Given the description of an element on the screen output the (x, y) to click on. 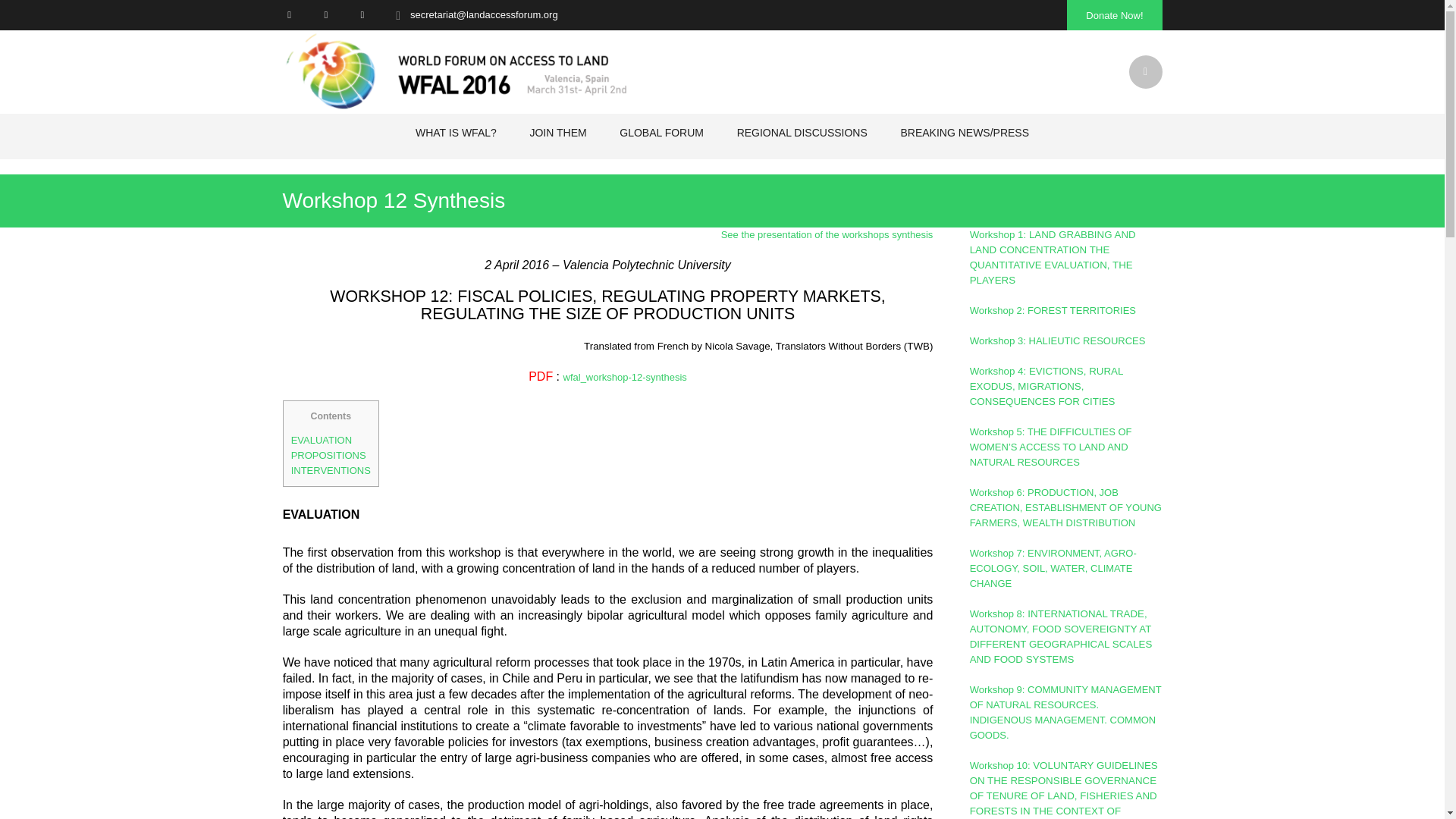
Youtube (362, 14)
Workshop 3: HALIEUTIC RESOURCES (1057, 340)
Donate Now! (1114, 15)
Facebook (325, 14)
WHAT IS WFAL? (455, 132)
JOIN THEM (557, 132)
Workshop 2: FOREST TERRITORIES (1052, 310)
See the presentation of the workshops synthesis (826, 234)
Twitter (288, 14)
REGIONAL DISCUSSIONS (801, 132)
GLOBAL FORUM (661, 132)
PROPOSITIONS (328, 455)
EVALUATION (321, 439)
